Given the description of an element on the screen output the (x, y) to click on. 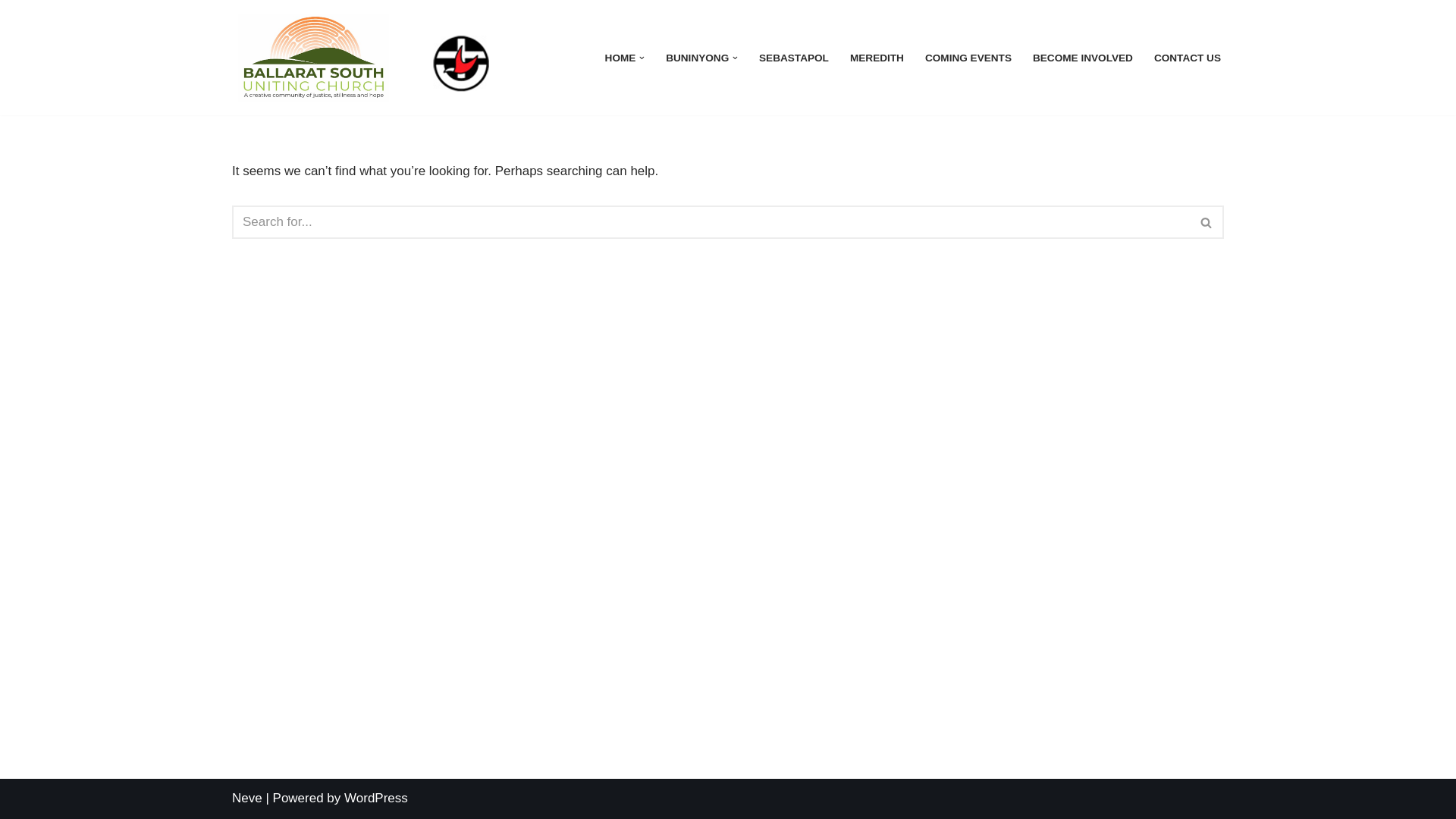
WordPress Element type: text (375, 797)
HOME Element type: text (620, 57)
BECOME INVOLVED Element type: text (1082, 57)
SEBASTAPOL Element type: text (793, 57)
MEREDITH Element type: text (876, 57)
Skip to content Element type: text (11, 31)
BUNINYONG Element type: text (696, 57)
CONTACT US Element type: text (1187, 57)
Neve Element type: text (247, 797)
COMING EVENTS Element type: text (968, 57)
